Given the description of an element on the screen output the (x, y) to click on. 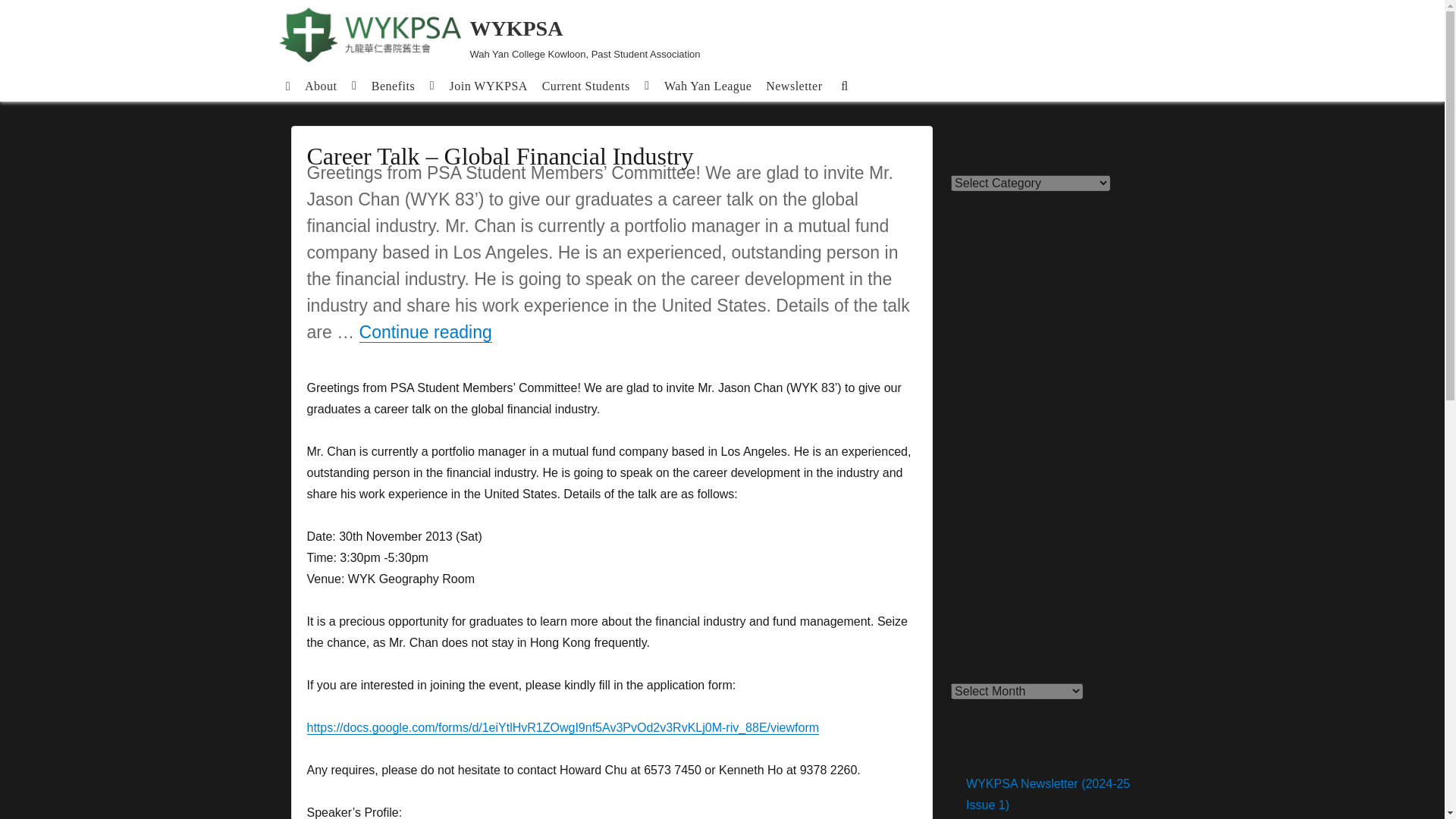
Newsletter (793, 85)
Join WYKPSA (488, 85)
WYKPSA (516, 28)
Benefits (403, 85)
Wah Yan League (708, 85)
Current Students (595, 85)
About (331, 85)
